Given the description of an element on the screen output the (x, y) to click on. 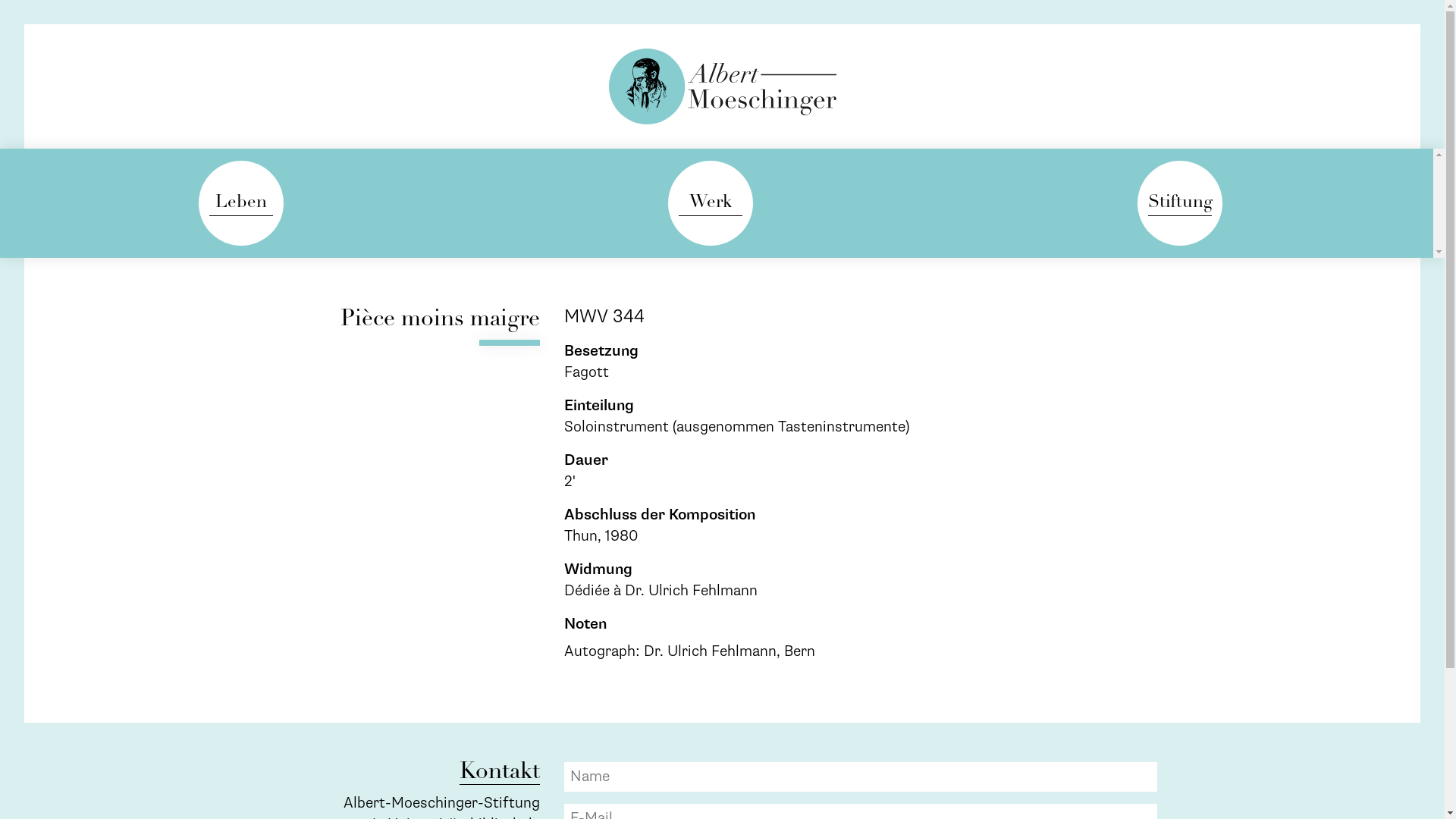
Leben Element type: text (241, 203)
Werk Element type: text (710, 203)
Stiftung Element type: text (1179, 203)
